Given the description of an element on the screen output the (x, y) to click on. 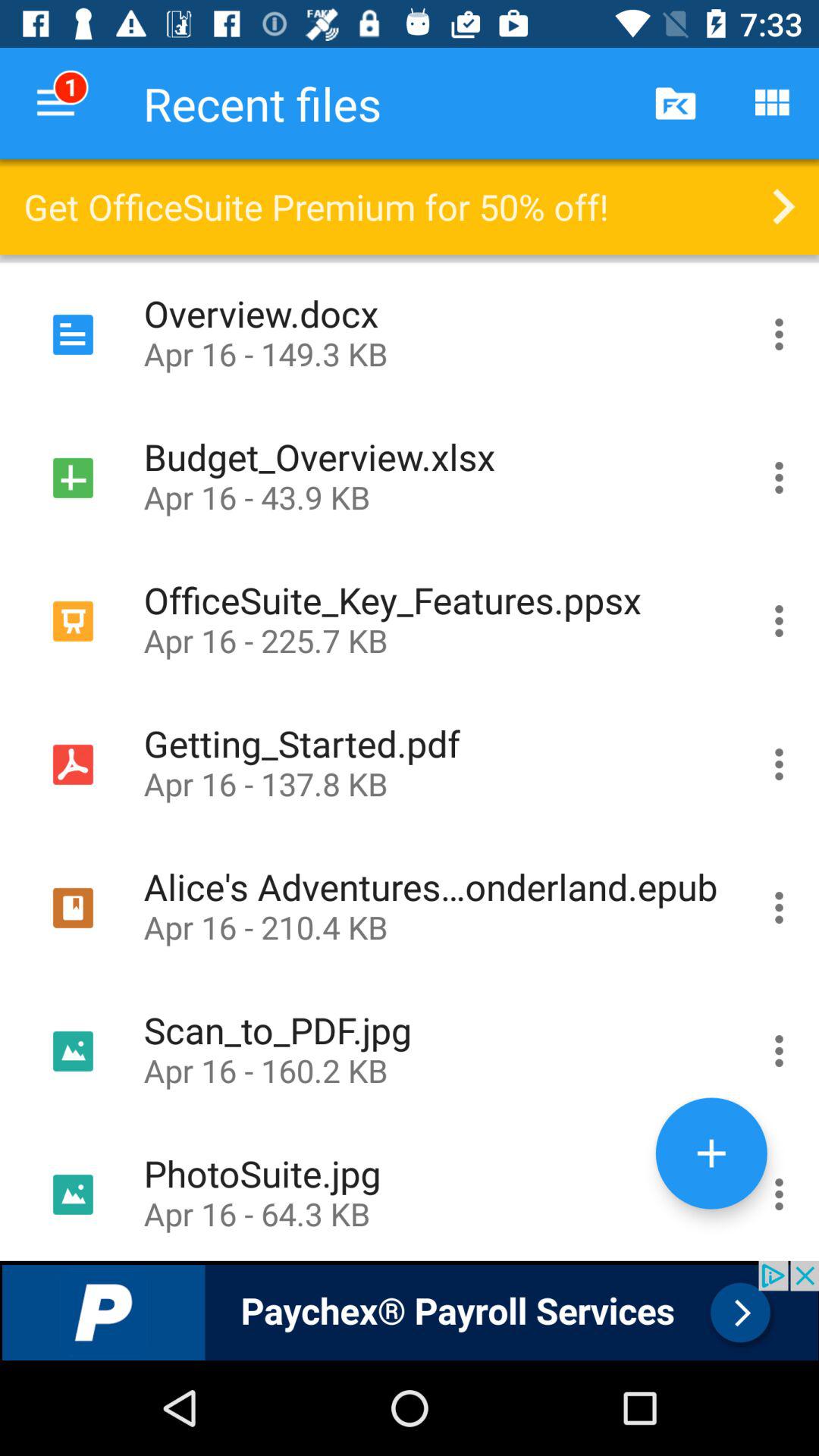
file details and other option include (779, 334)
